Given the description of an element on the screen output the (x, y) to click on. 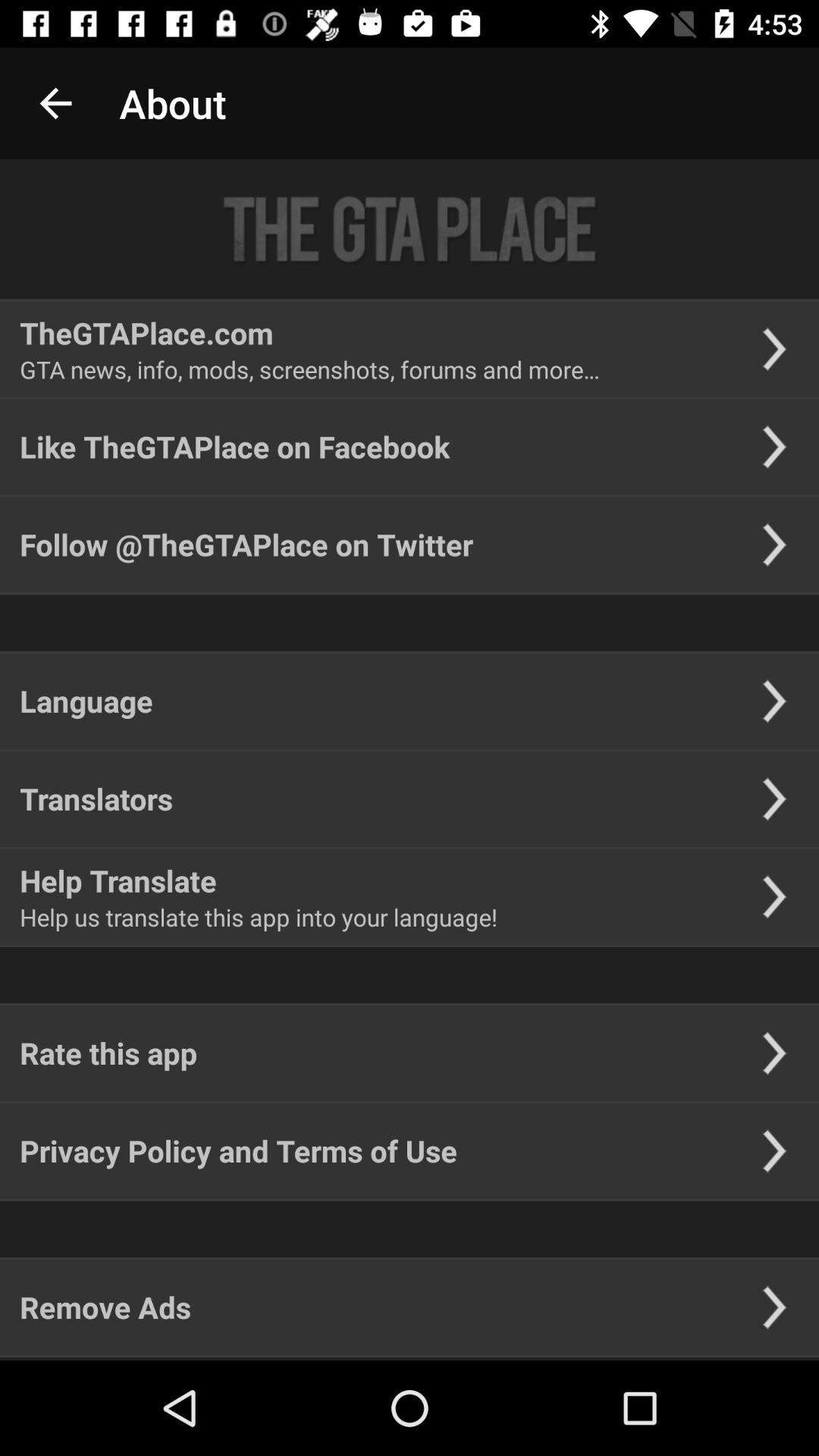
turn on item below the rate this app item (238, 1150)
